Given the description of an element on the screen output the (x, y) to click on. 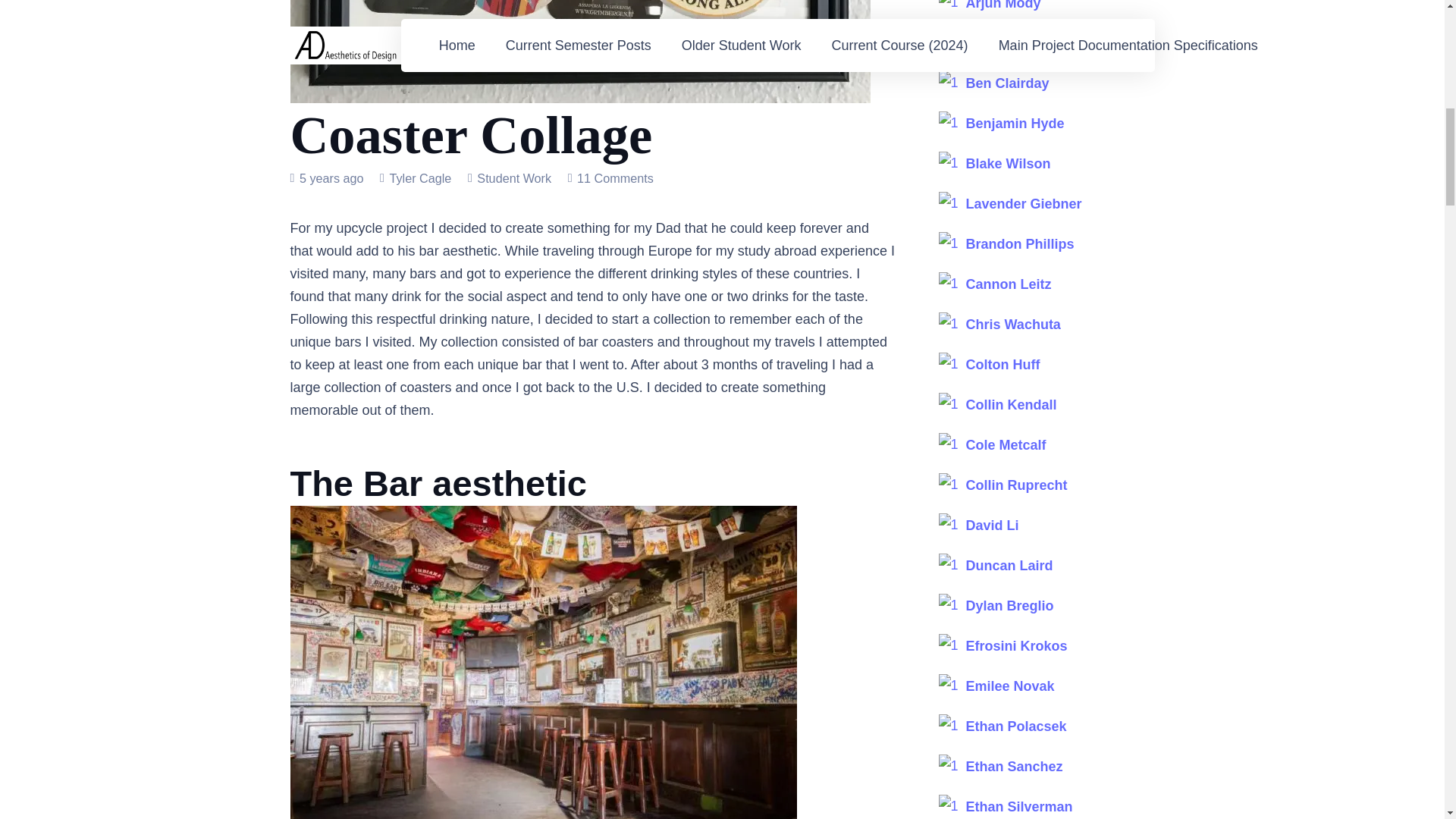
Back to top (1413, 26)
11 Comments (614, 178)
